Given the description of an element on the screen output the (x, y) to click on. 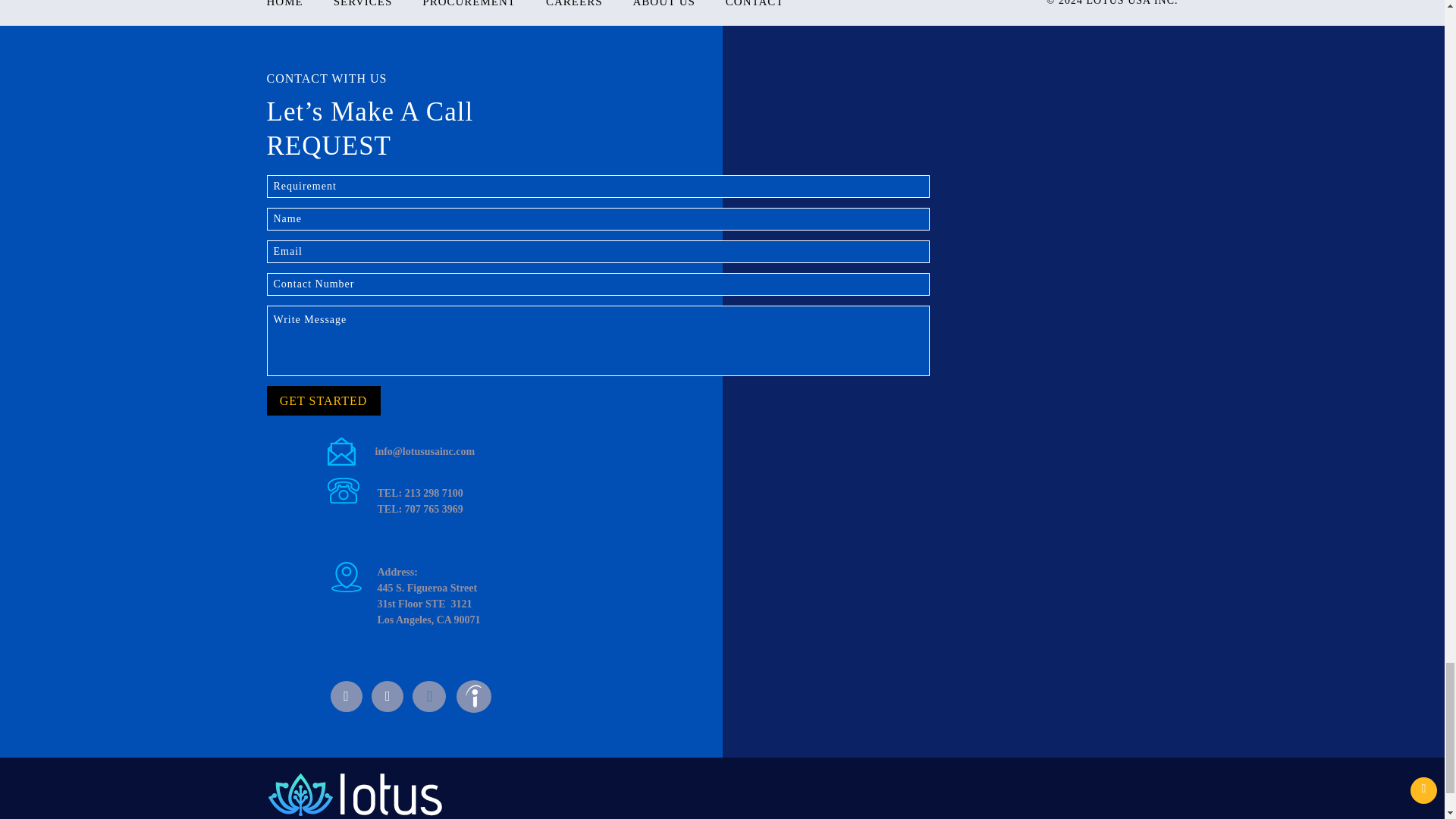
Twitter (387, 695)
Get Started (323, 400)
Default Label (428, 695)
Facebook (346, 695)
